Given the description of an element on the screen output the (x, y) to click on. 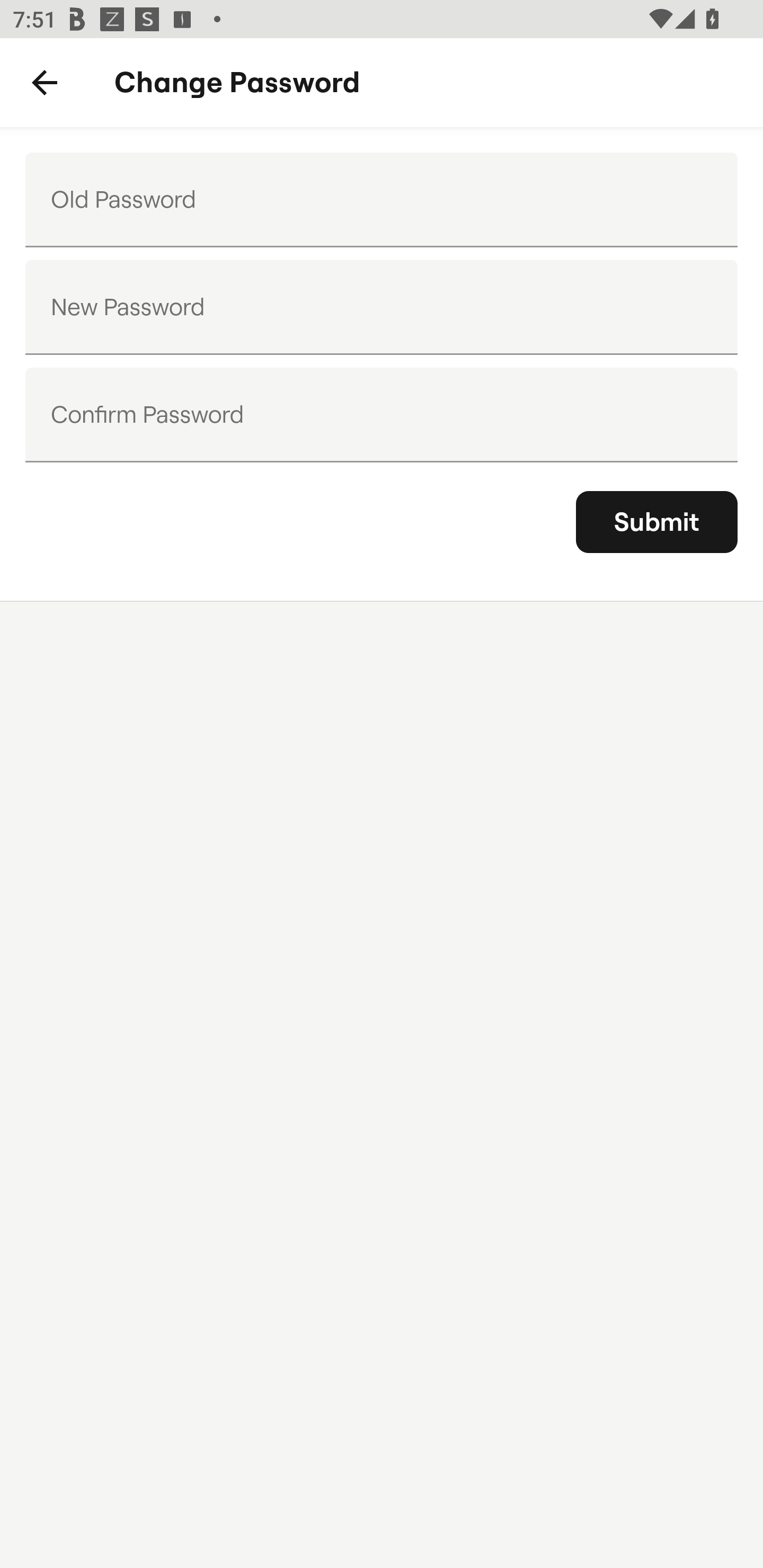
Back (44, 82)
Old Password (381, 199)
New Password (381, 307)
Confirm Password (381, 414)
Submit (656, 521)
